Given the description of an element on the screen output the (x, y) to click on. 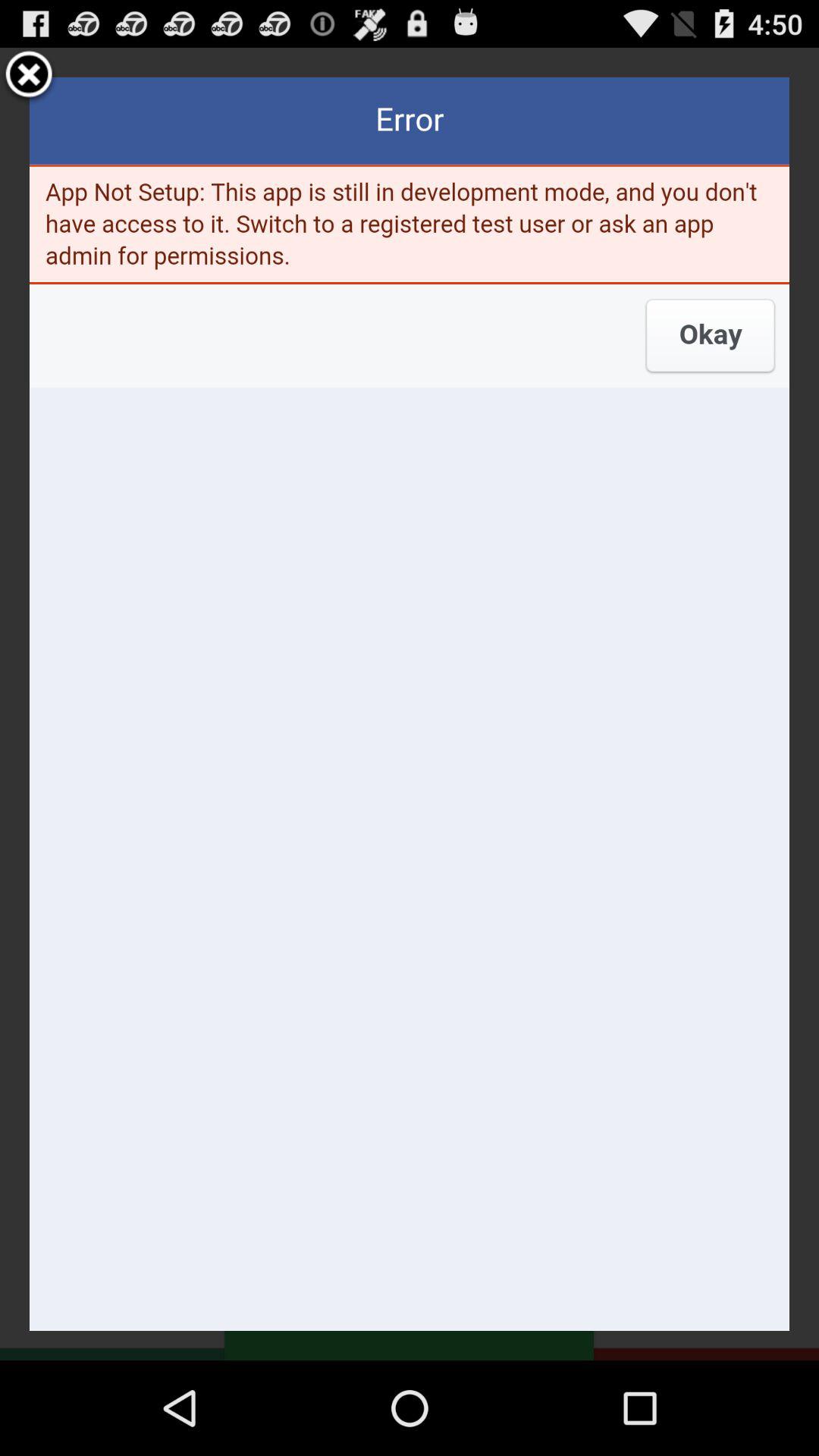
error (409, 703)
